Given the description of an element on the screen output the (x, y) to click on. 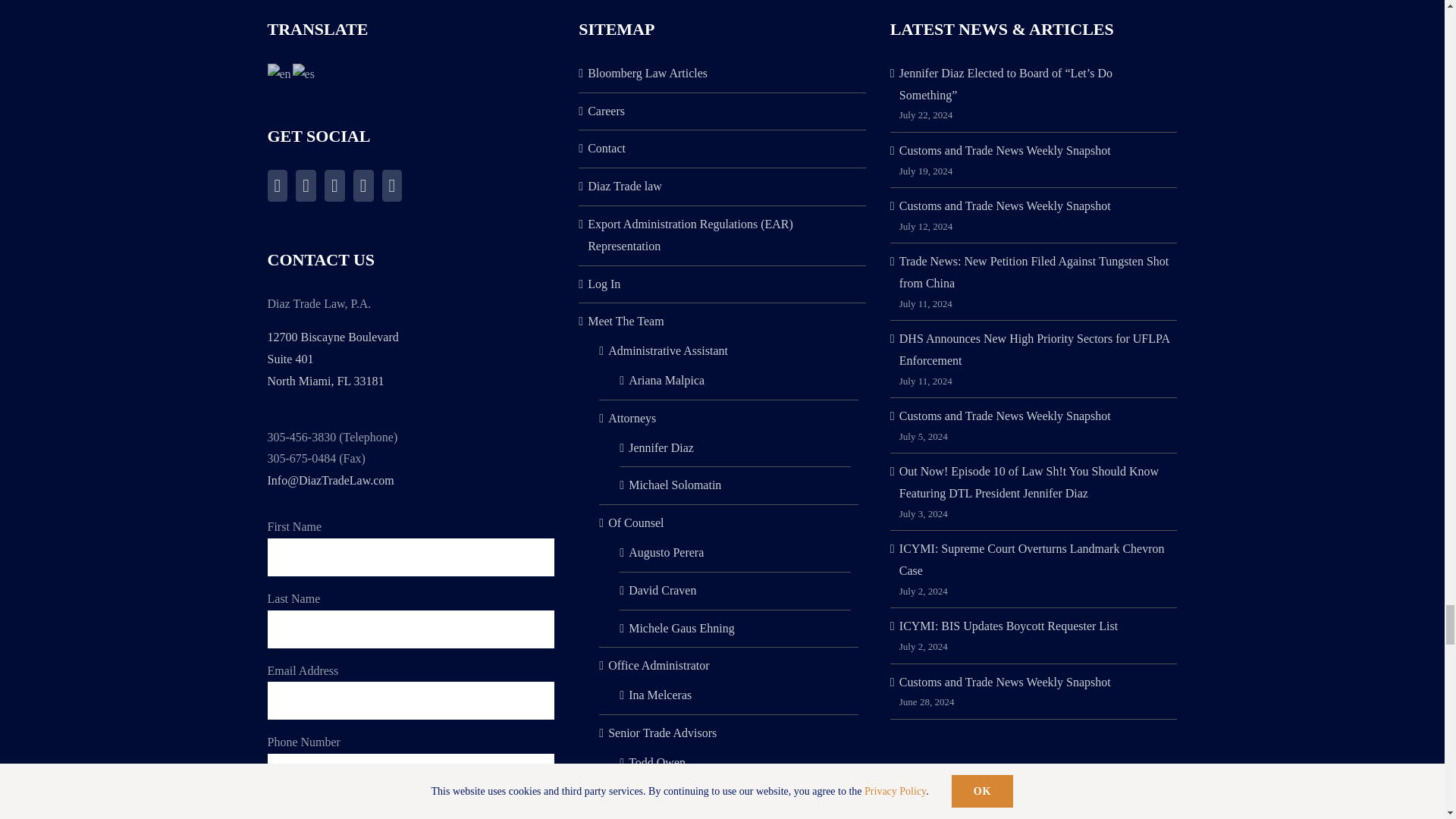
Spanish (303, 72)
English (279, 72)
